Given the description of an element on the screen output the (x, y) to click on. 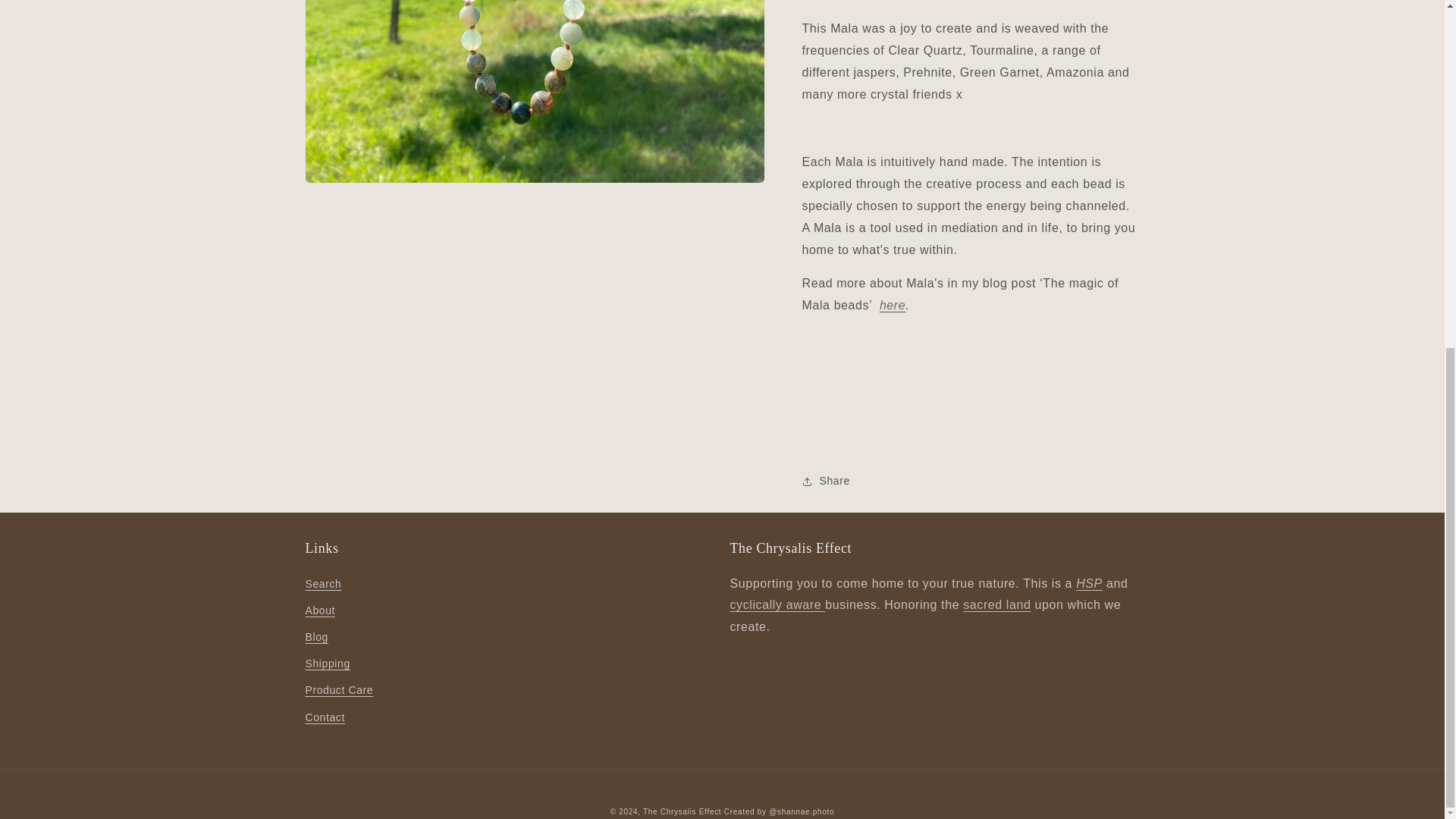
Search (322, 585)
Product Care (338, 690)
sacred land (996, 604)
HSP (1088, 583)
The Chrysalis Effect (681, 811)
Shipping (326, 663)
About (319, 610)
Contact (323, 717)
cyclically aware (777, 604)
here (892, 293)
